Given the description of an element on the screen output the (x, y) to click on. 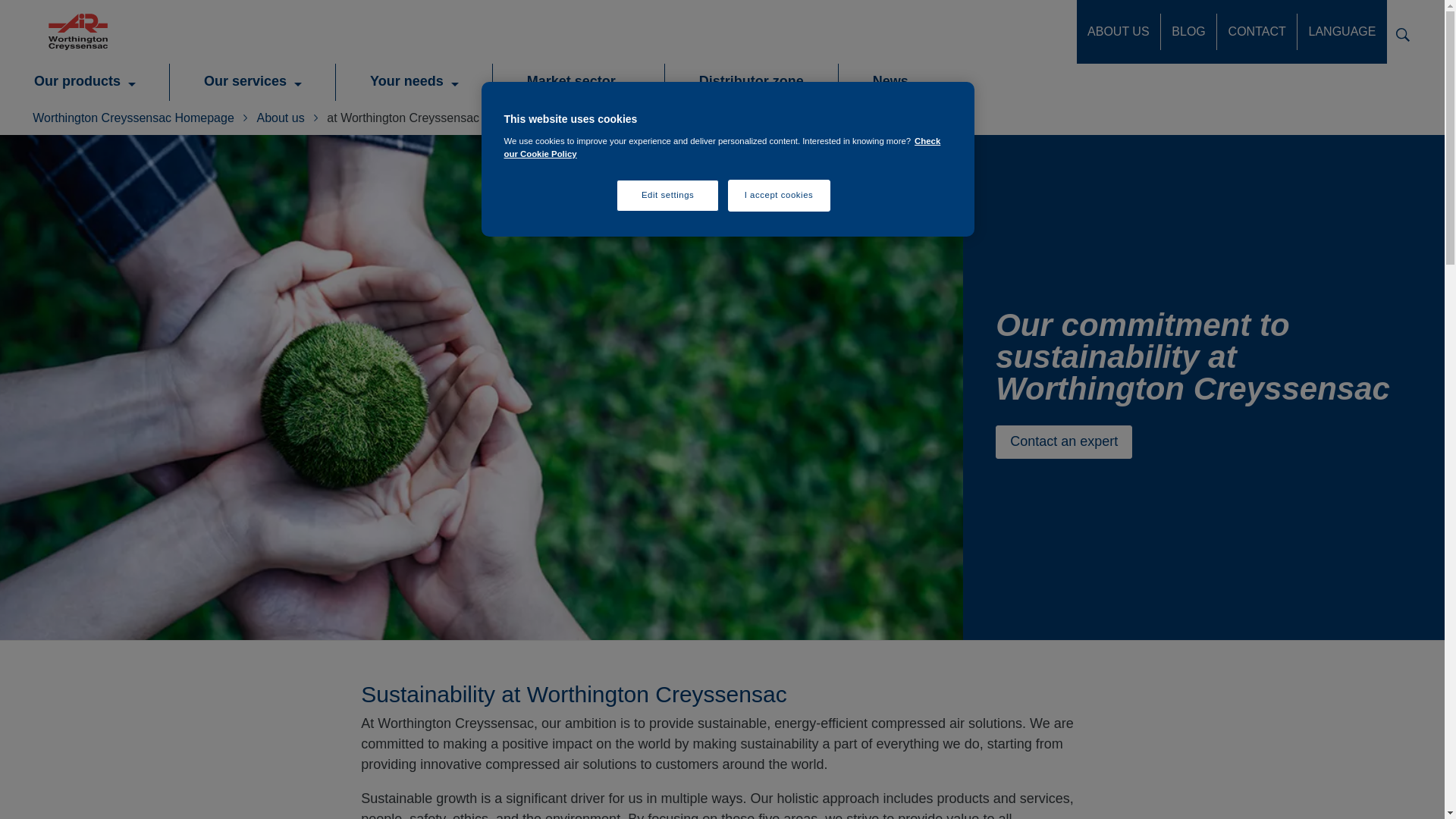
LANGUAGE (1342, 31)
Worthington Global homepage (77, 31)
CONTACT (1256, 31)
BLOG (1187, 31)
Search (1402, 32)
ABOUT US (1118, 31)
